Given the description of an element on the screen output the (x, y) to click on. 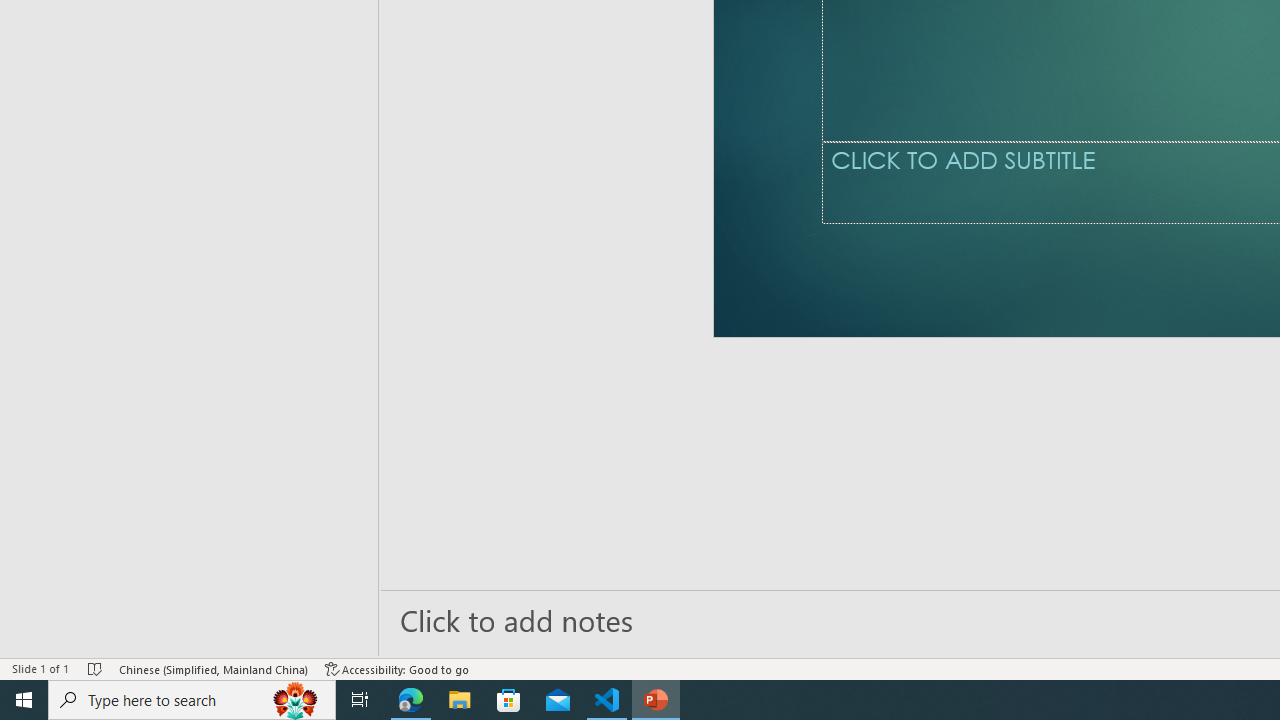
Accessibility Checker Accessibility: Good to go (397, 668)
